Given the description of an element on the screen output the (x, y) to click on. 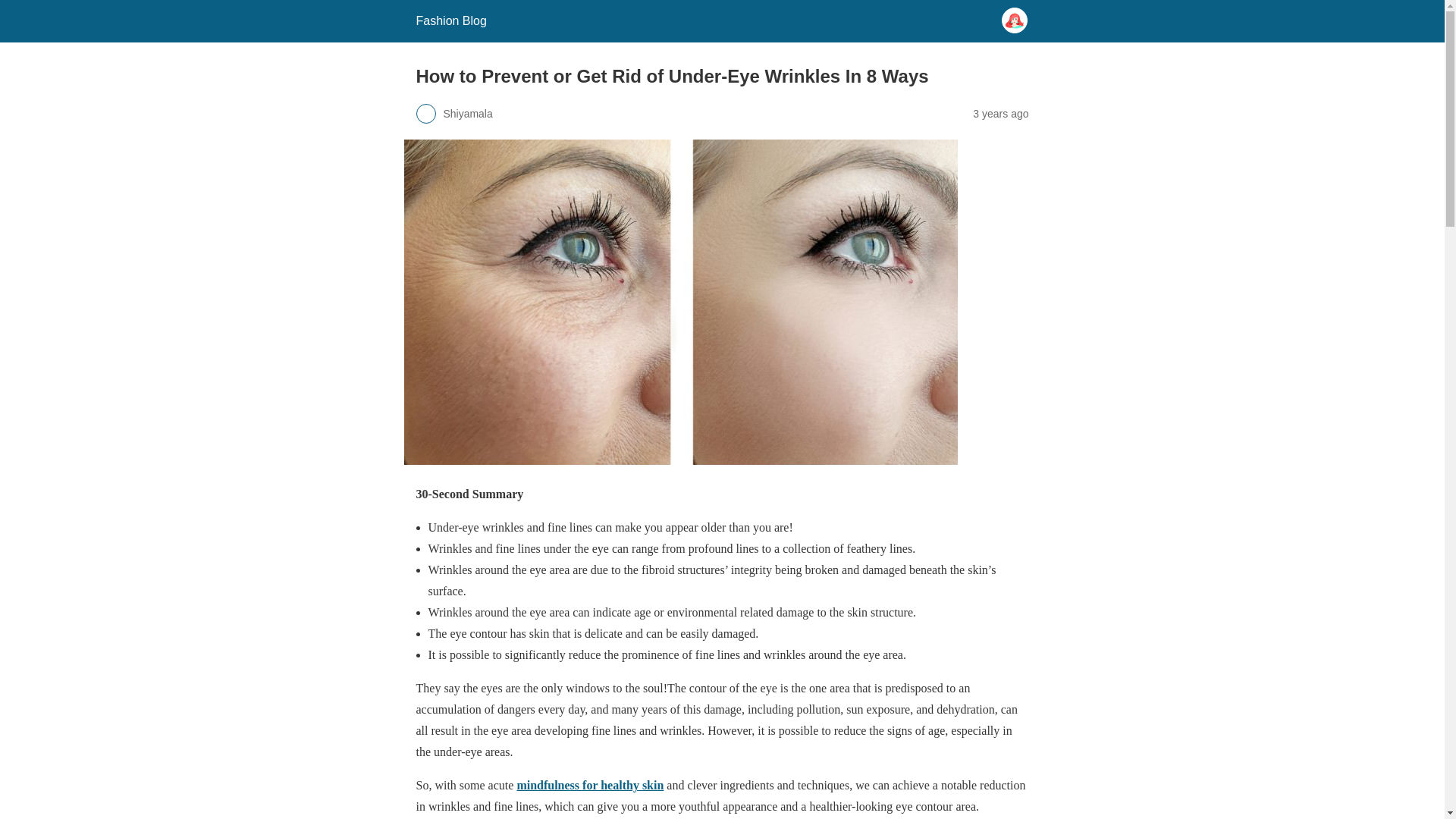
mindfulness for healthy skin (589, 784)
Fashion Blog (450, 20)
